Given the description of an element on the screen output the (x, y) to click on. 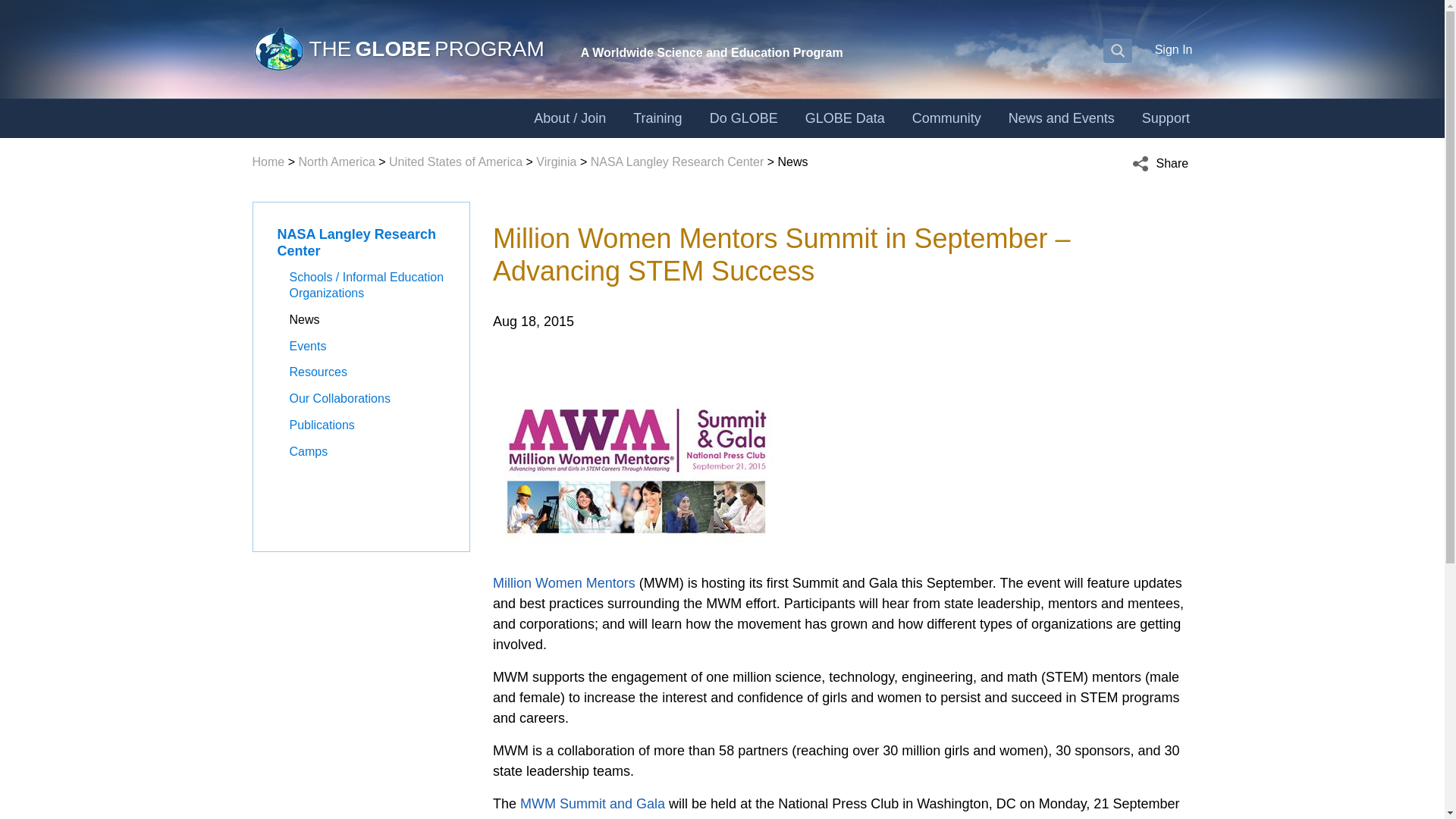
Sign In (1173, 48)
Go to GLOBE.gov (397, 48)
THE GLOBE PROGRAM (397, 48)
